Given the description of an element on the screen output the (x, y) to click on. 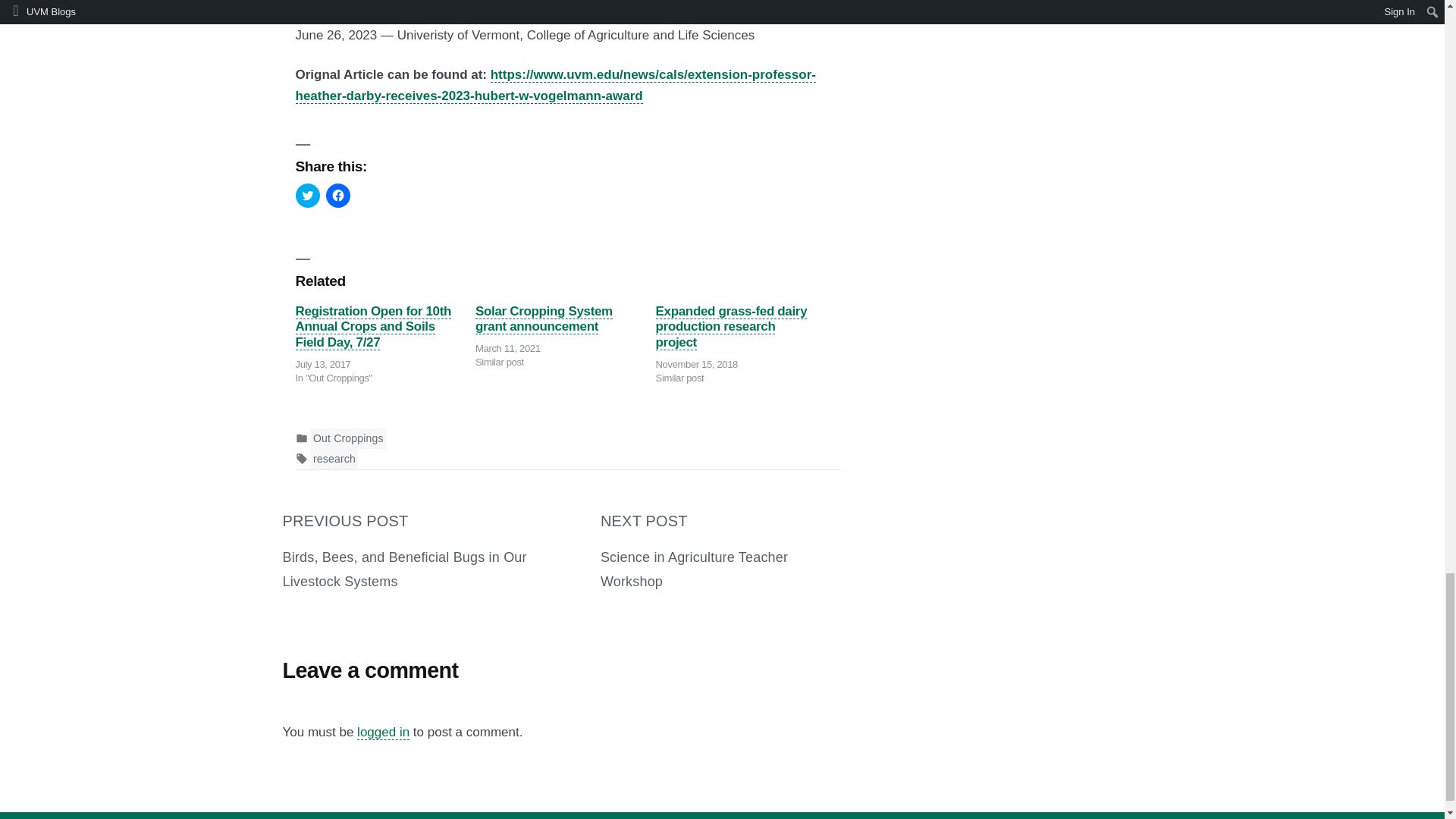
research (334, 458)
Click to share on Facebook (338, 195)
Click to share on Twitter (307, 195)
Out Croppings (348, 438)
Expanded grass-fed dairy production research project (732, 326)
Solar Cropping System grant announcement (544, 318)
Expanded grass-fed dairy production research project (732, 326)
Solar Cropping System grant announcement (544, 318)
logged in (382, 732)
